Given the description of an element on the screen output the (x, y) to click on. 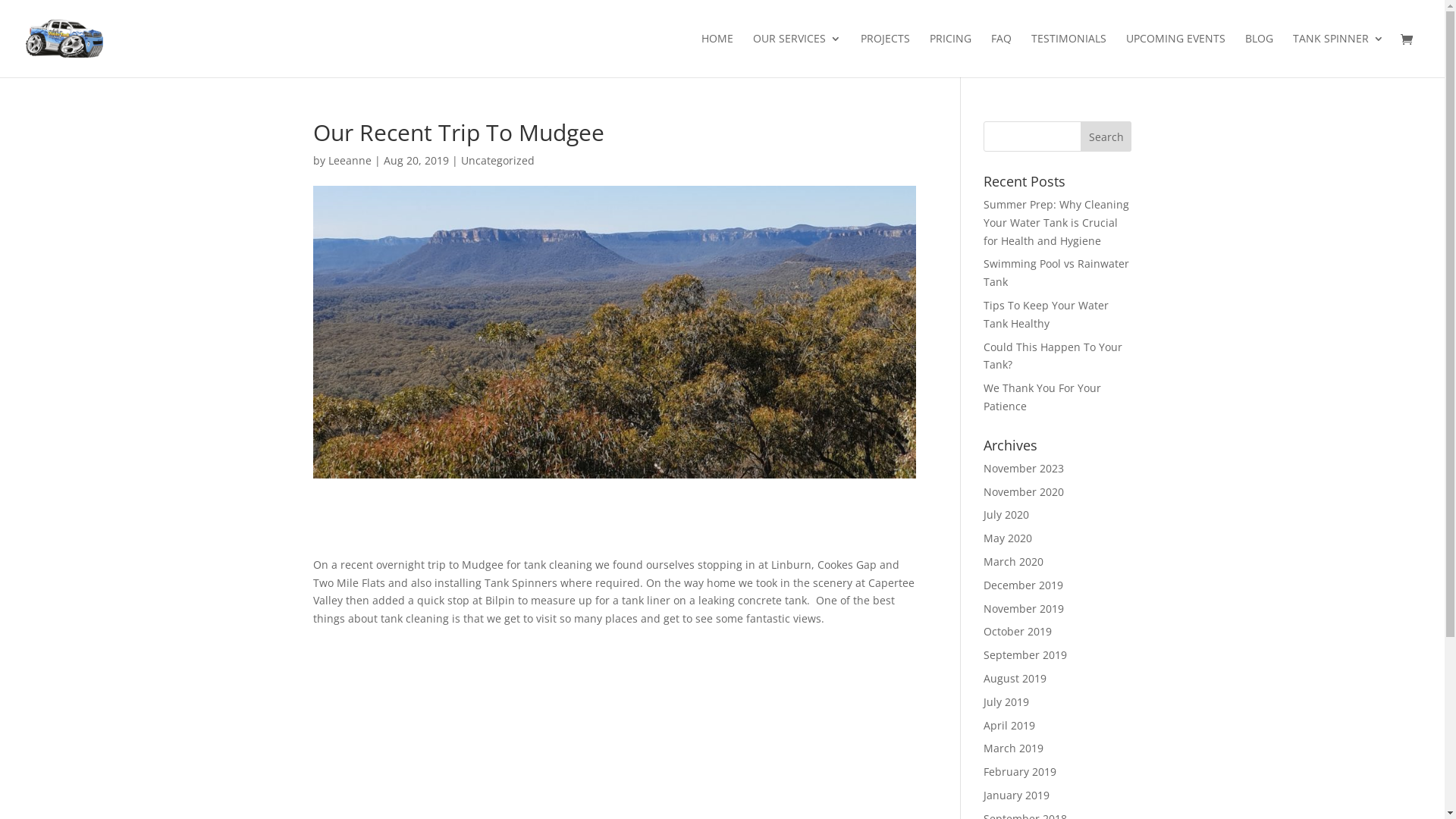
October 2019 Element type: text (1017, 631)
November 2019 Element type: text (1023, 608)
September 2019 Element type: text (1024, 654)
TESTIMONIALS Element type: text (1068, 55)
We Thank You For Your Patience Element type: text (1042, 396)
UPCOMING EVENTS Element type: text (1175, 55)
HOME Element type: text (717, 55)
OUR SERVICES Element type: text (796, 55)
Leeanne Element type: text (348, 160)
August 2019 Element type: text (1014, 678)
April 2019 Element type: text (1009, 725)
March 2019 Element type: text (1013, 747)
December 2019 Element type: text (1023, 584)
Swimming Pool vs Rainwater Tank Element type: text (1056, 272)
February 2019 Element type: text (1019, 771)
Uncategorized Element type: text (497, 160)
November 2020 Element type: text (1023, 491)
Could This Happen To Your Tank? Element type: text (1052, 355)
July 2019 Element type: text (1006, 701)
BLOG Element type: text (1259, 55)
TANK SPINNER Element type: text (1337, 55)
PRICING Element type: text (950, 55)
PROJECTS Element type: text (885, 55)
Tips To Keep Your Water Tank Healthy Element type: text (1045, 314)
July 2020 Element type: text (1006, 514)
November 2023 Element type: text (1023, 468)
May 2020 Element type: text (1007, 537)
FAQ Element type: text (1001, 55)
January 2019 Element type: text (1016, 794)
Search Element type: text (1106, 136)
March 2020 Element type: text (1013, 561)
